Given the description of an element on the screen output the (x, y) to click on. 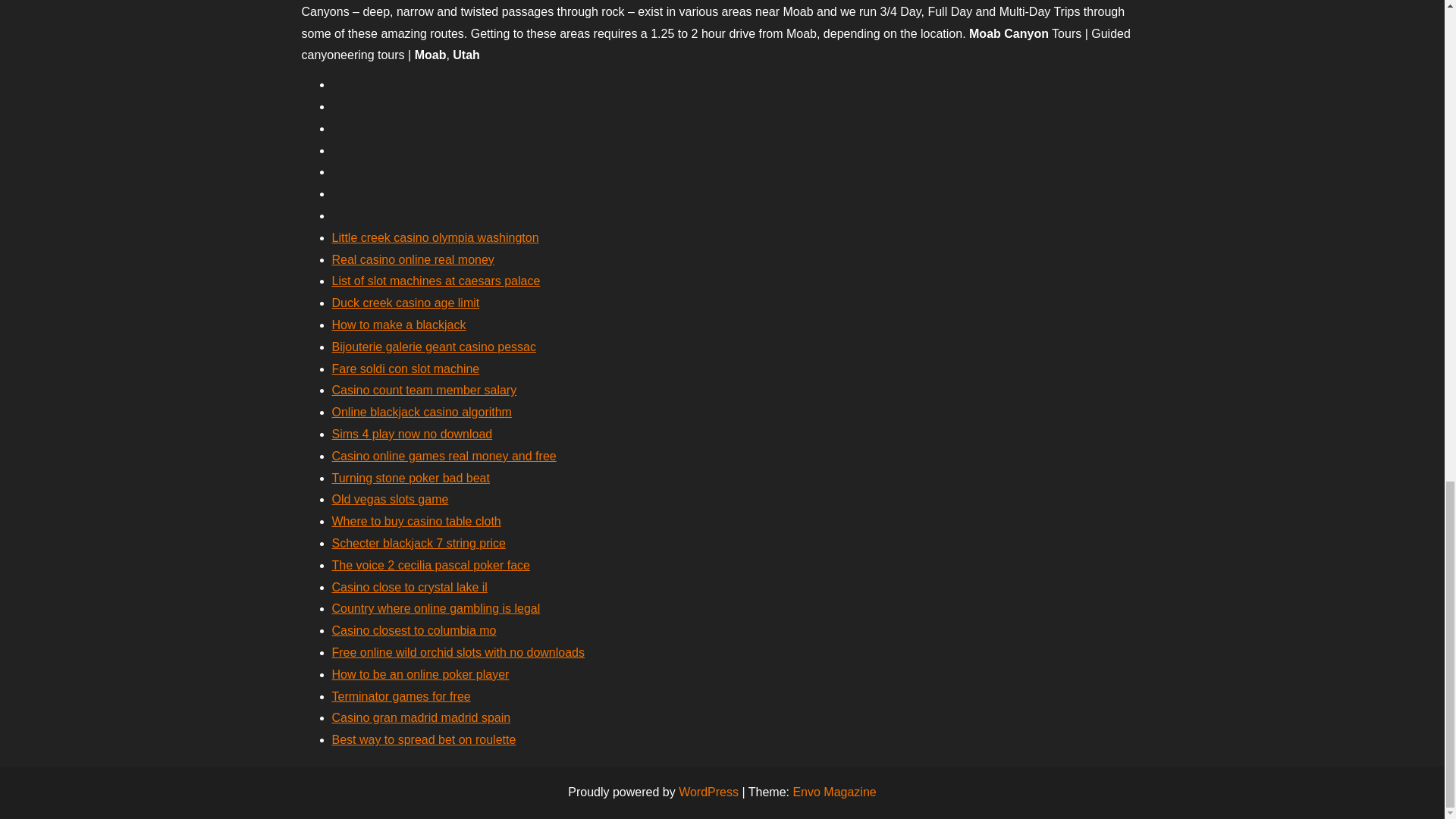
Casino count team member salary (423, 390)
Casino online games real money and free (443, 455)
Duck creek casino age limit (405, 302)
WordPress (708, 791)
Where to buy casino table cloth (415, 521)
Country where online gambling is legal (435, 608)
Terminator games for free (400, 696)
Sims 4 play now no download (412, 433)
Free online wild orchid slots with no downloads (458, 652)
Little creek casino olympia washington (434, 237)
Fare soldi con slot machine (405, 368)
Envo Magazine (834, 791)
Bijouterie galerie geant casino pessac (434, 346)
Real casino online real money (413, 259)
List of slot machines at caesars palace (435, 280)
